Given the description of an element on the screen output the (x, y) to click on. 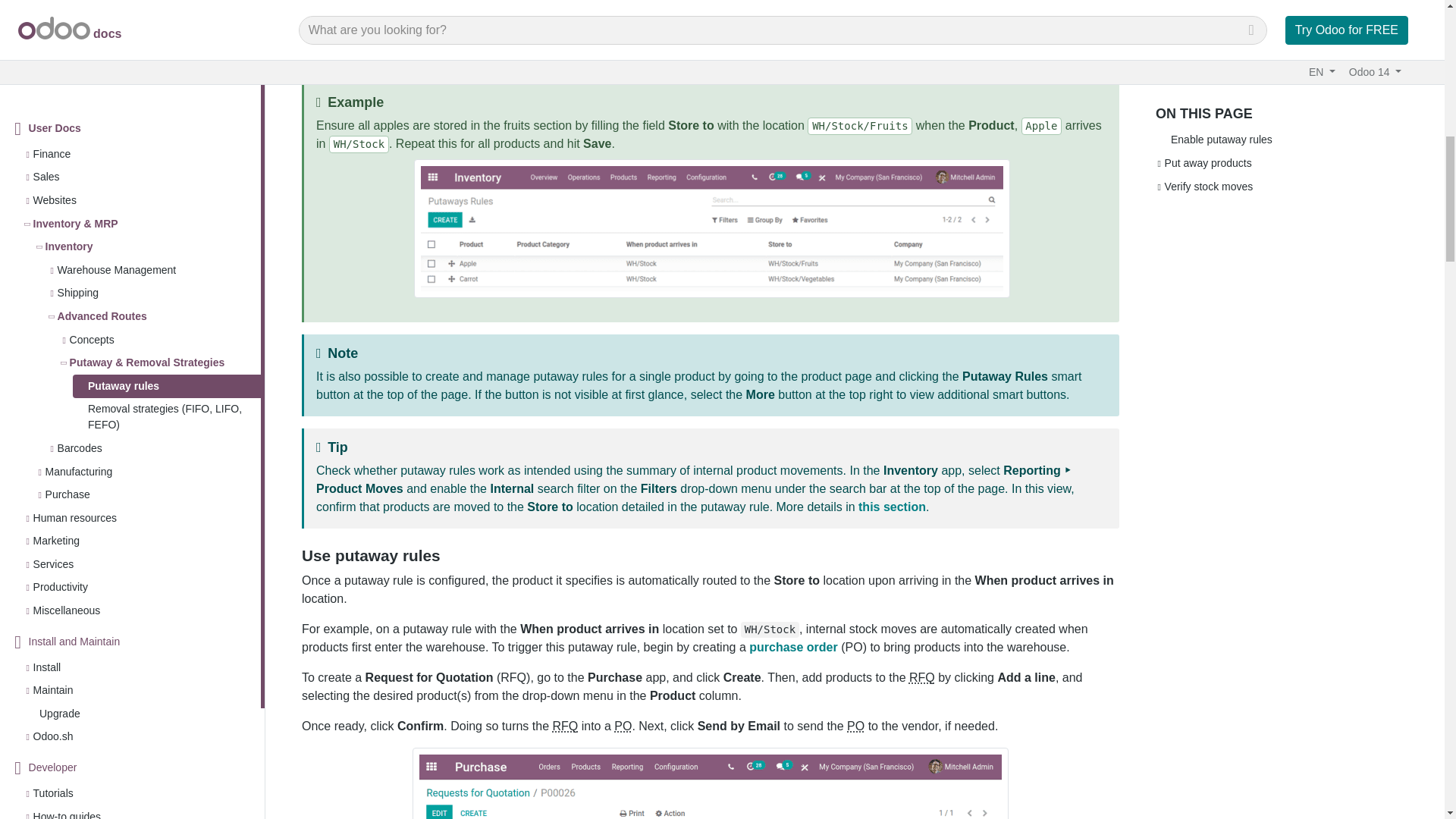
Purchase Order (622, 725)
Request for Quotation (921, 676)
Purchase Order (855, 725)
Request for Quotation (564, 725)
